Given the description of an element on the screen output the (x, y) to click on. 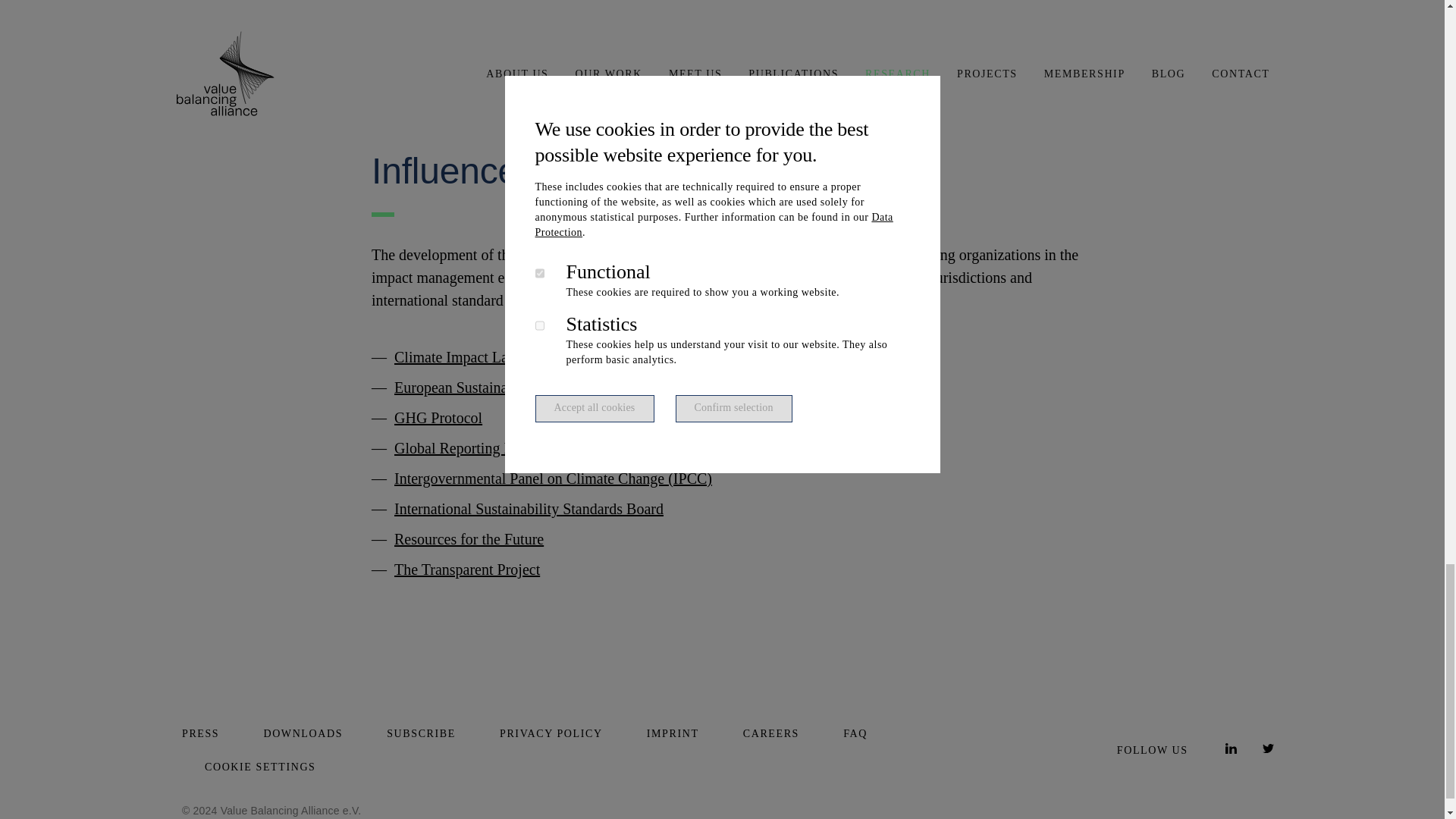
The Transparent Project (467, 569)
Climate Impact Lab (454, 356)
GHG Protocol (437, 417)
CAREERS (770, 734)
COOKIE SETTINGS (260, 767)
International Sustainability Standards Board (528, 508)
PRESS (200, 734)
Resources for the Future (468, 538)
DOWNLOADS (302, 734)
IMPRINT (672, 734)
